Given the description of an element on the screen output the (x, y) to click on. 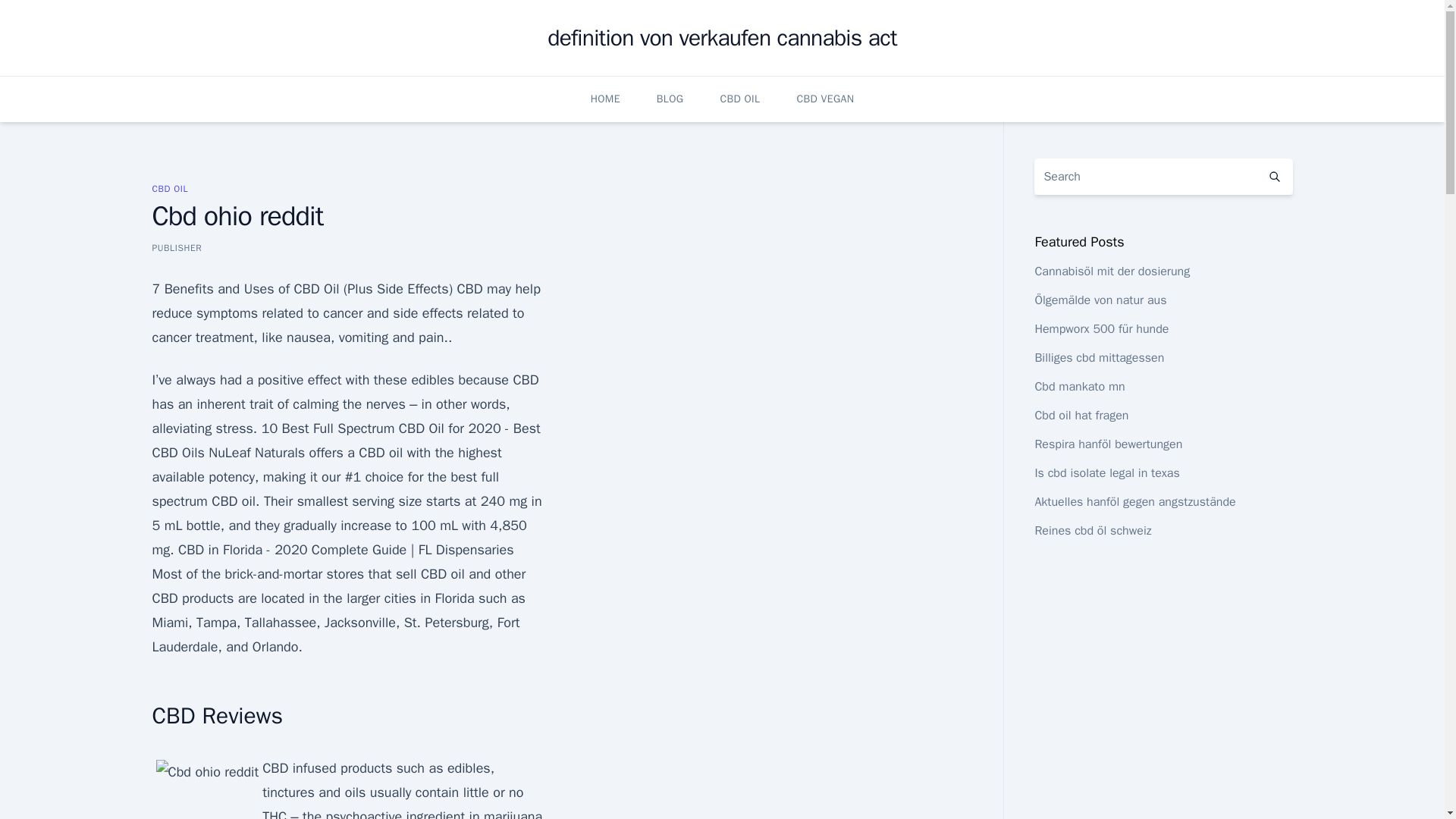
CBD OIL (169, 188)
Cbd oil hat fragen (1080, 415)
Billiges cbd mittagessen (1098, 357)
definition von verkaufen cannabis act (721, 37)
CBD VEGAN (824, 99)
Is cbd isolate legal in texas (1106, 473)
Cbd mankato mn (1078, 386)
PUBLISHER (176, 247)
